Given the description of an element on the screen output the (x, y) to click on. 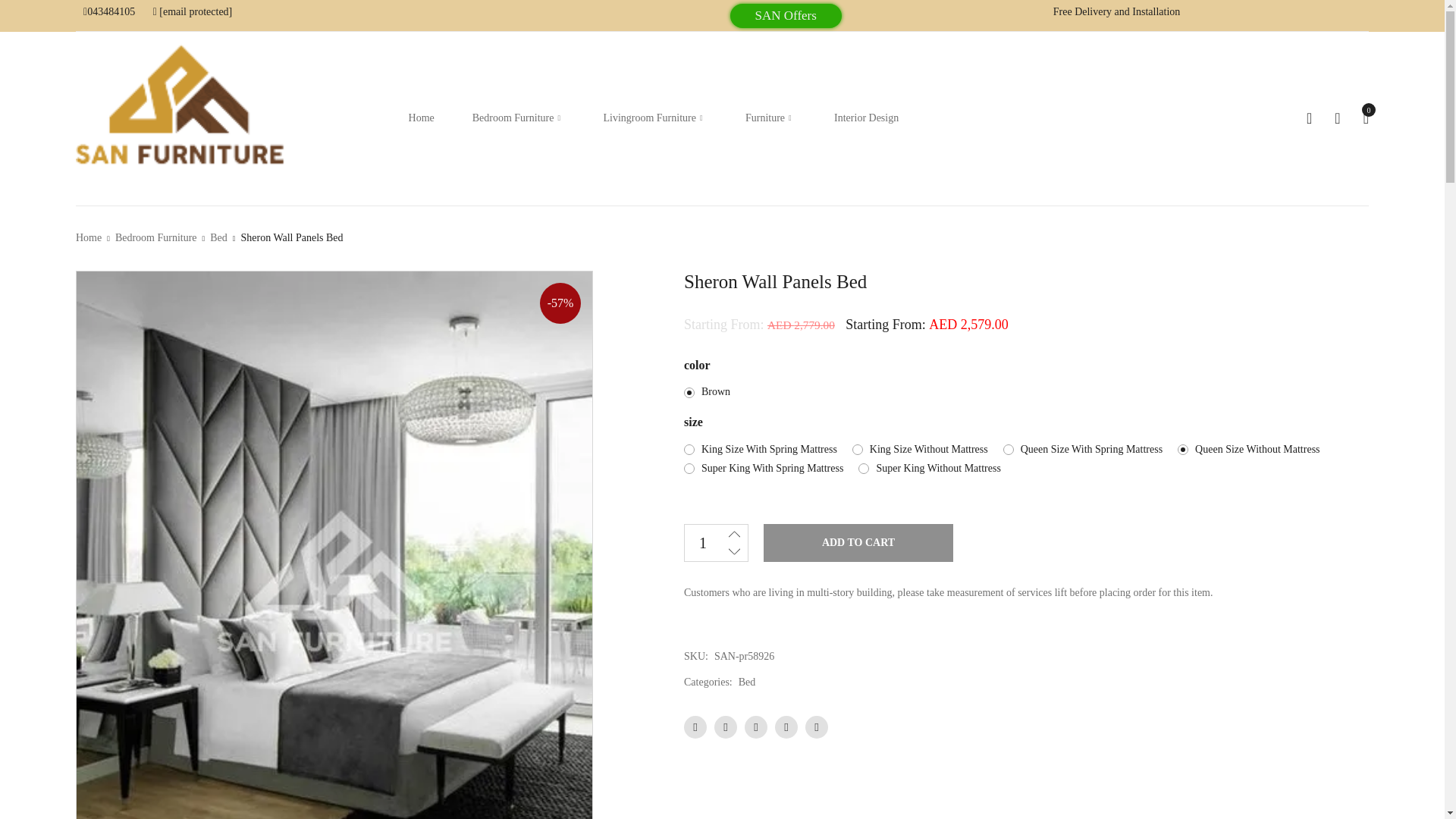
- (734, 551)
1 (702, 542)
San Furniture (181, 115)
